Given the description of an element on the screen output the (x, y) to click on. 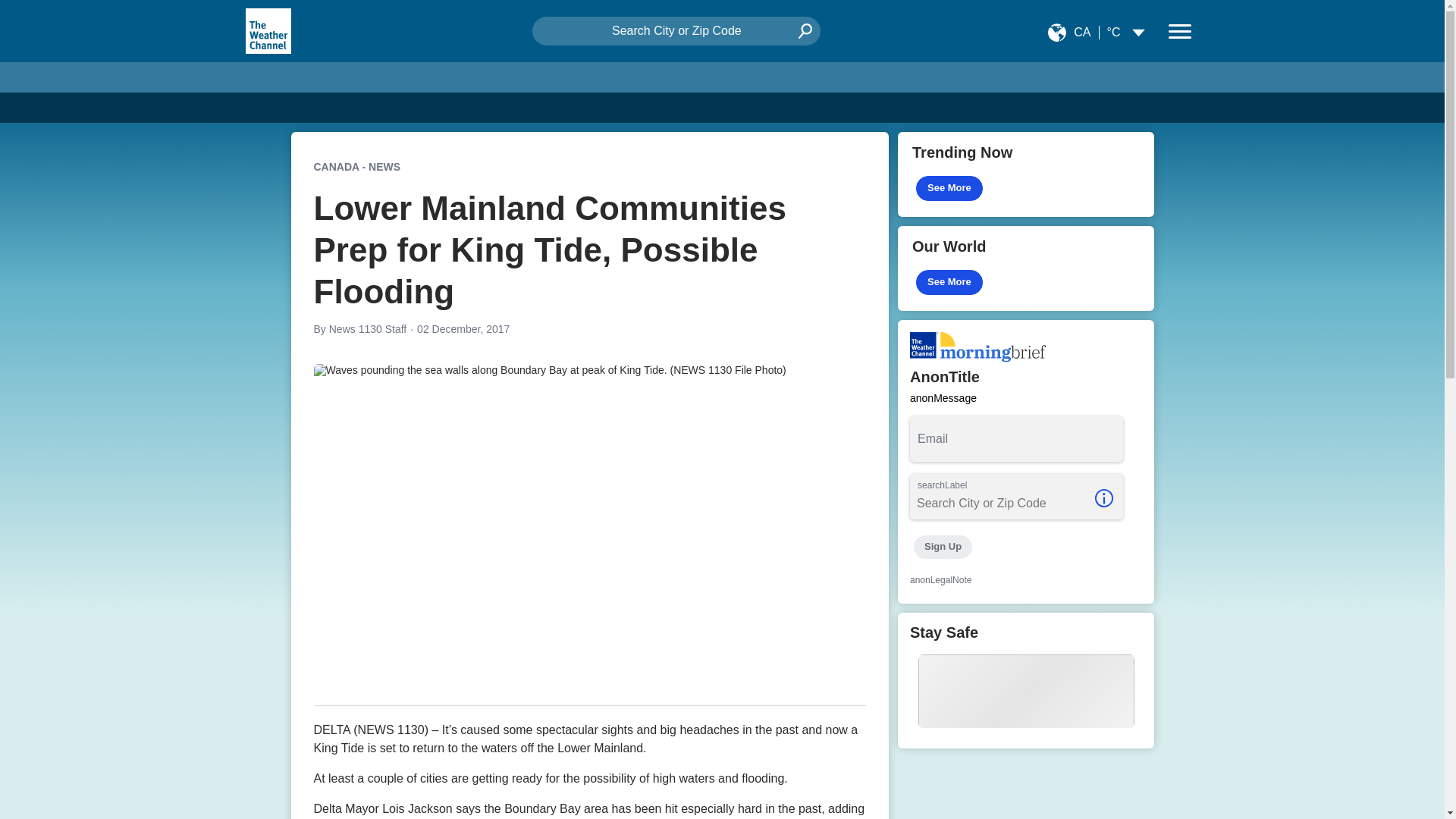
The Weather Channel (268, 31)
Our World (1026, 268)
See More (948, 282)
Stay Safe (1026, 680)
The Weather Channel (267, 30)
Trending Now (1026, 174)
See More (948, 188)
Sign Up (941, 546)
